Given the description of an element on the screen output the (x, y) to click on. 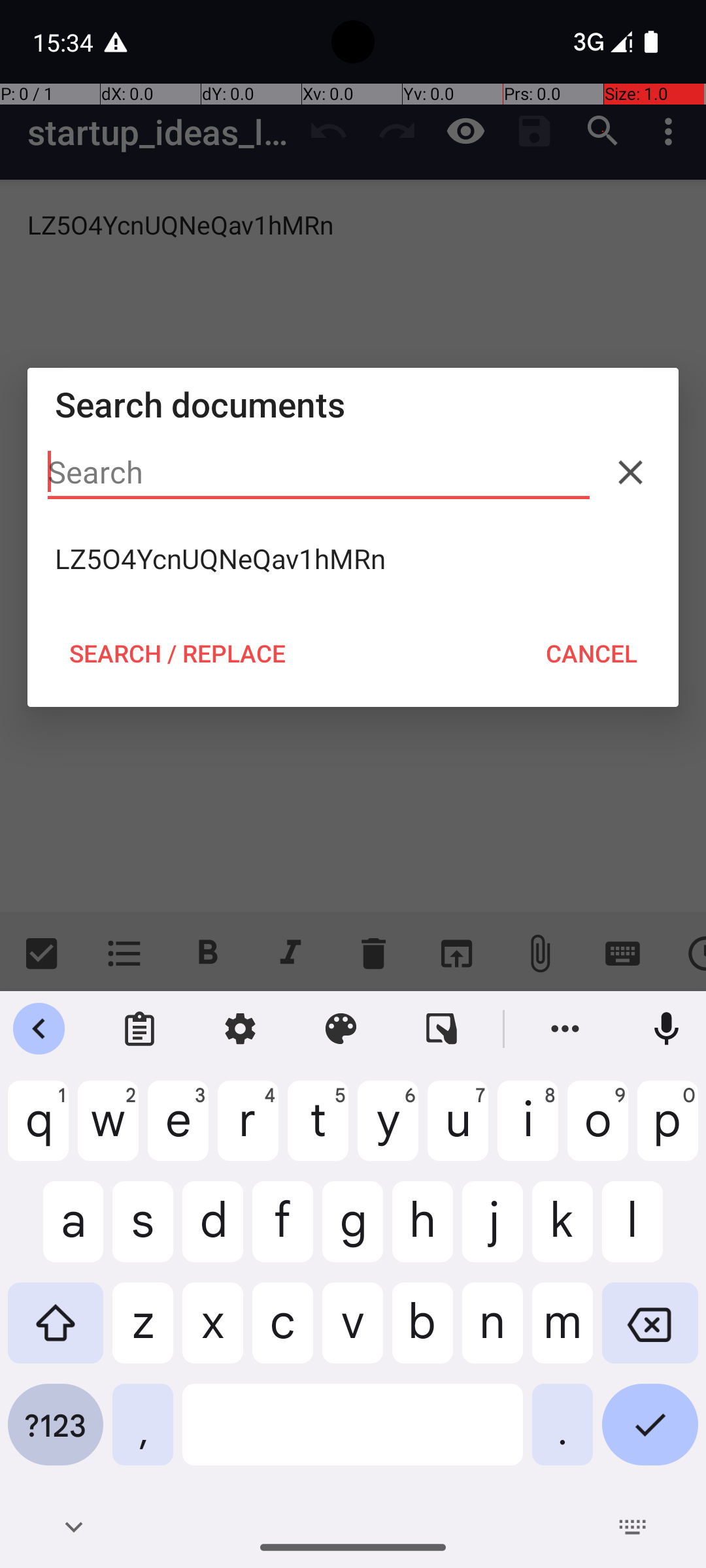
Search documents Element type: android.widget.TextView (352, 403)
LZ5O4YcnUQNeQav1hMRn Element type: android.widget.TextView (352, 558)
SEARCH / REPLACE Element type: android.widget.Button (176, 652)
Theme settings Element type: android.widget.FrameLayout (340, 1028)
One handed mode Element type: android.widget.FrameLayout (441, 1028)
Done Element type: android.widget.FrameLayout (649, 1434)
